Given the description of an element on the screen output the (x, y) to click on. 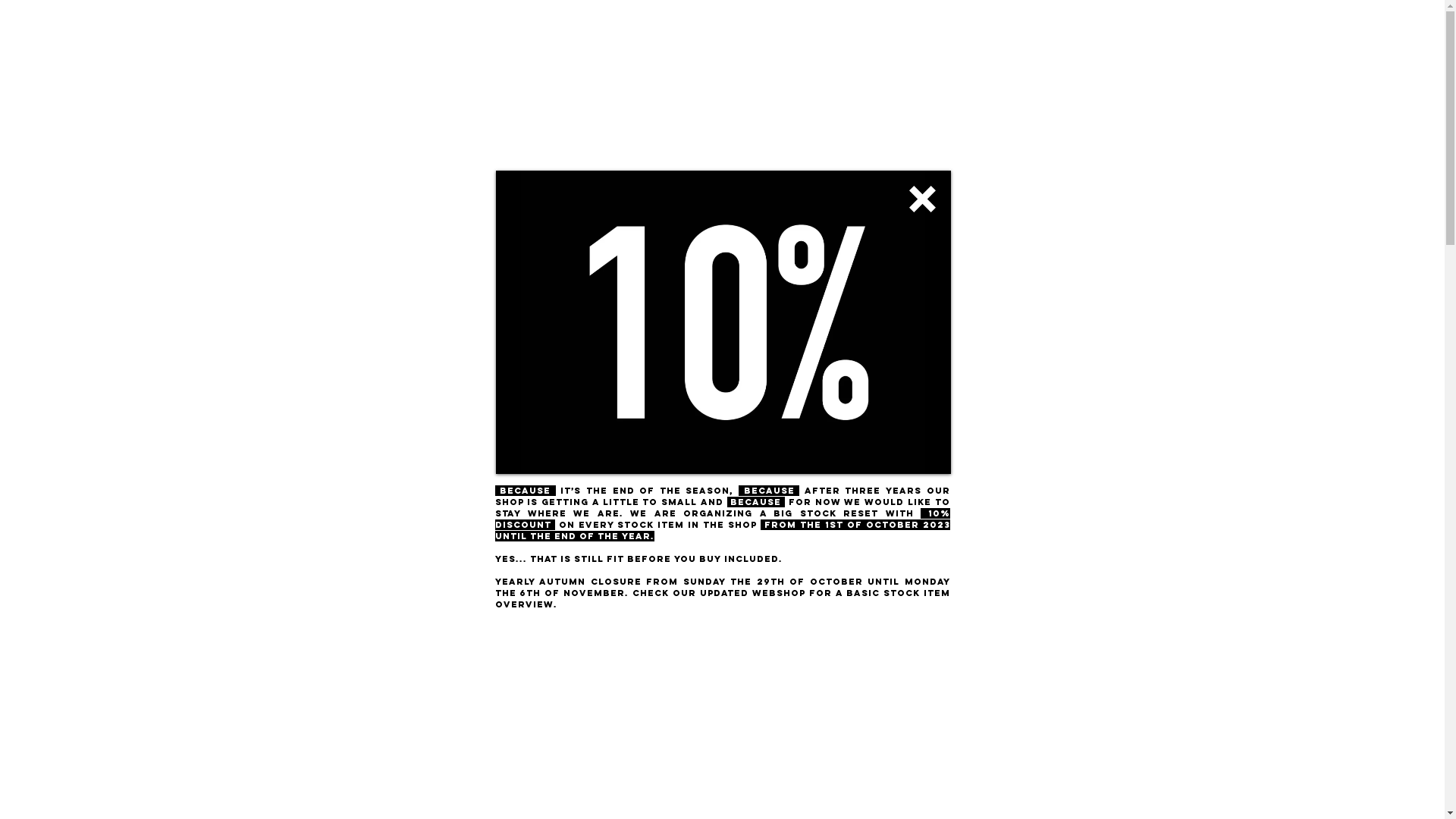
INFO & CONTACT Element type: text (855, 79)
WEBSHOP Element type: text (952, 79)
ROUTES & RIDES Element type: text (743, 79)
Back to site Element type: hover (921, 198)
HOME Element type: text (384, 79)
BOOK ONLINE Element type: text (1043, 79)
